Given the description of an element on the screen output the (x, y) to click on. 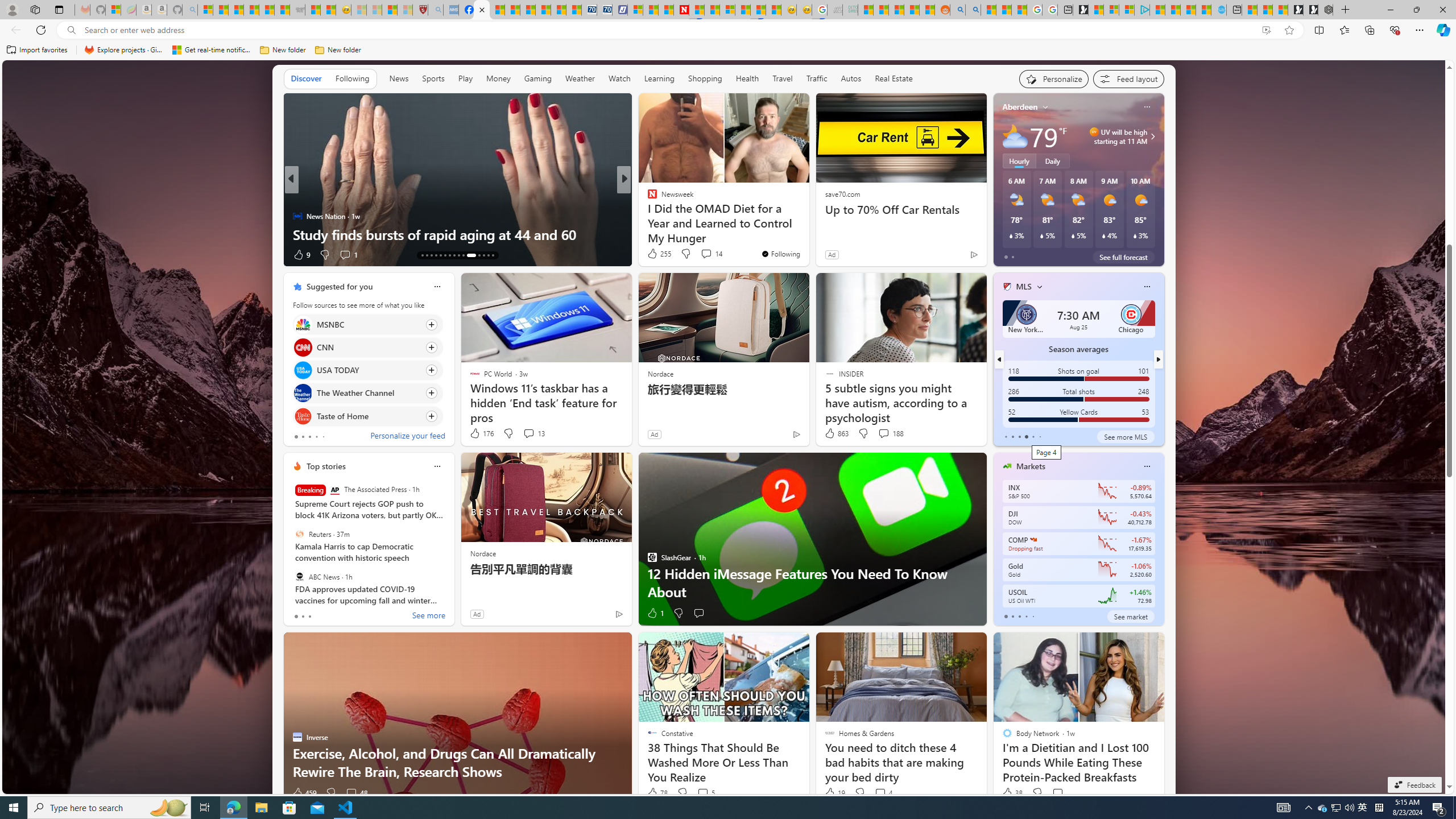
Newsweek - News, Analysis, Politics, Business, Technology (681, 9)
AutomationID: tab-71 (444, 255)
View comments 14 Comment (710, 253)
Southern Living (647, 197)
tab-3 (1025, 616)
ETNT Mind+Body (296, 197)
